Given the description of an element on the screen output the (x, y) to click on. 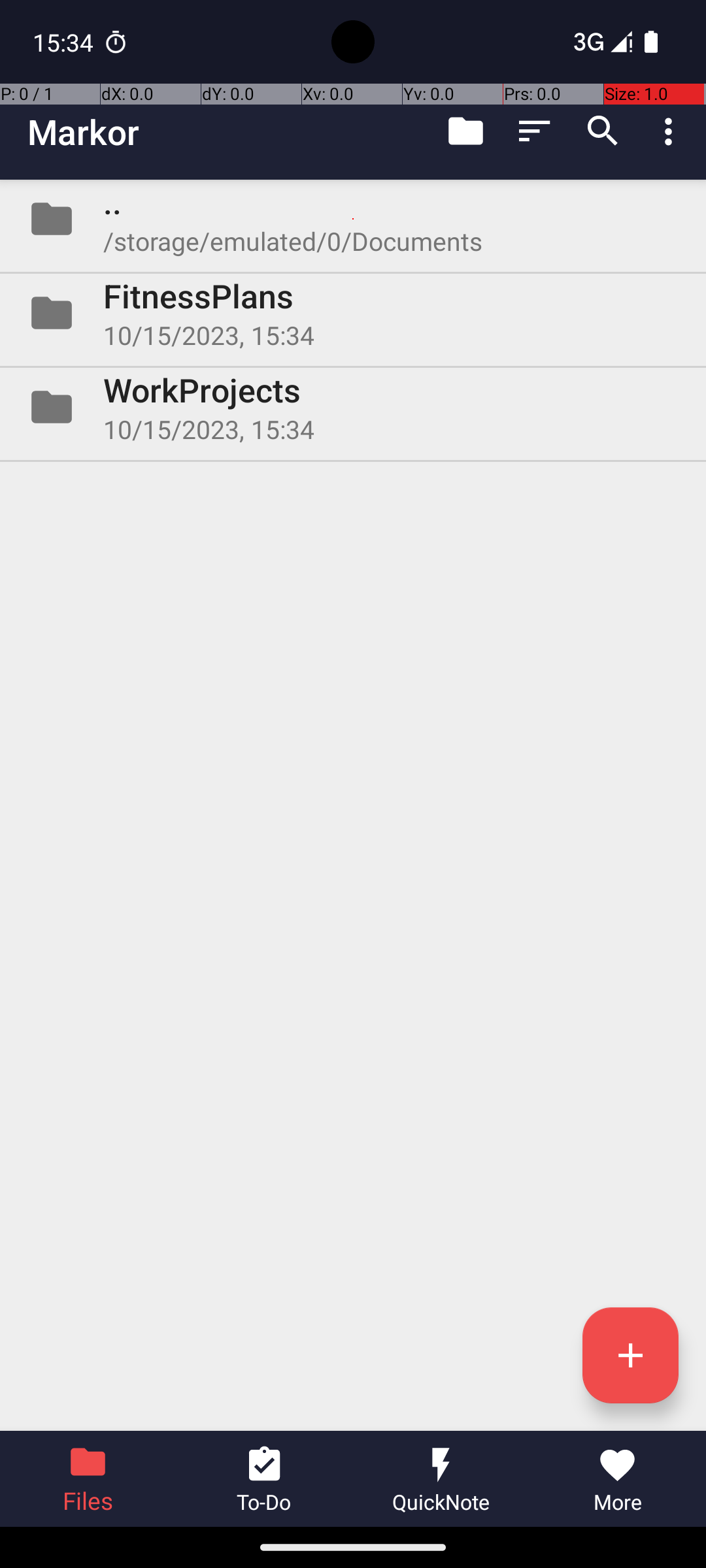
Folder .. /storage/emulated/0/Documents/markor Element type: android.widget.LinearLayout (353, 218)
Folder FitnessPlans 10/15/2023, 15:34 Element type: android.widget.LinearLayout (353, 312)
Folder WorkProjects 10/15/2023, 15:34 Element type: android.widget.LinearLayout (353, 406)
